Given the description of an element on the screen output the (x, y) to click on. 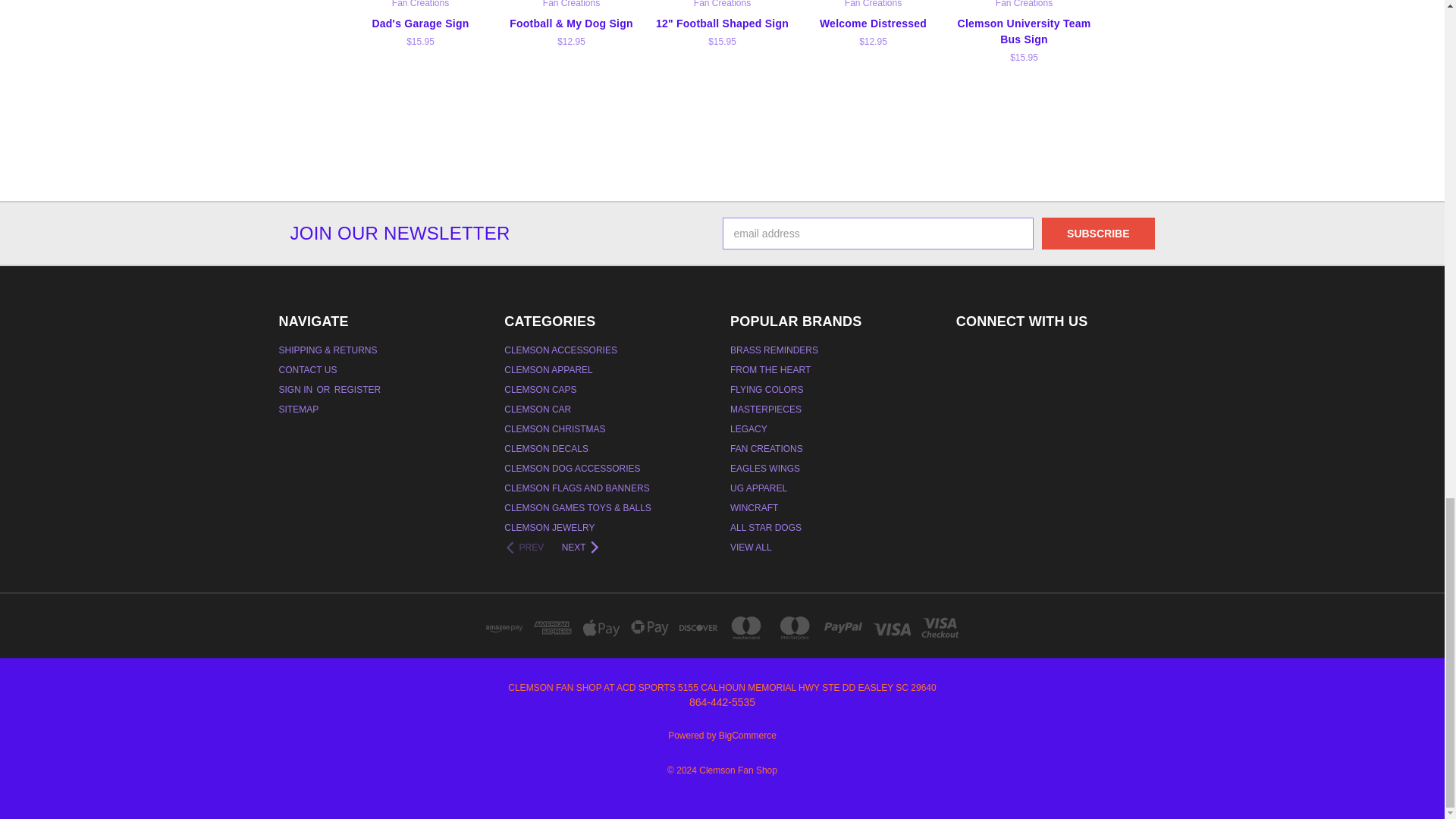
Subscribe (1098, 233)
